Given the description of an element on the screen output the (x, y) to click on. 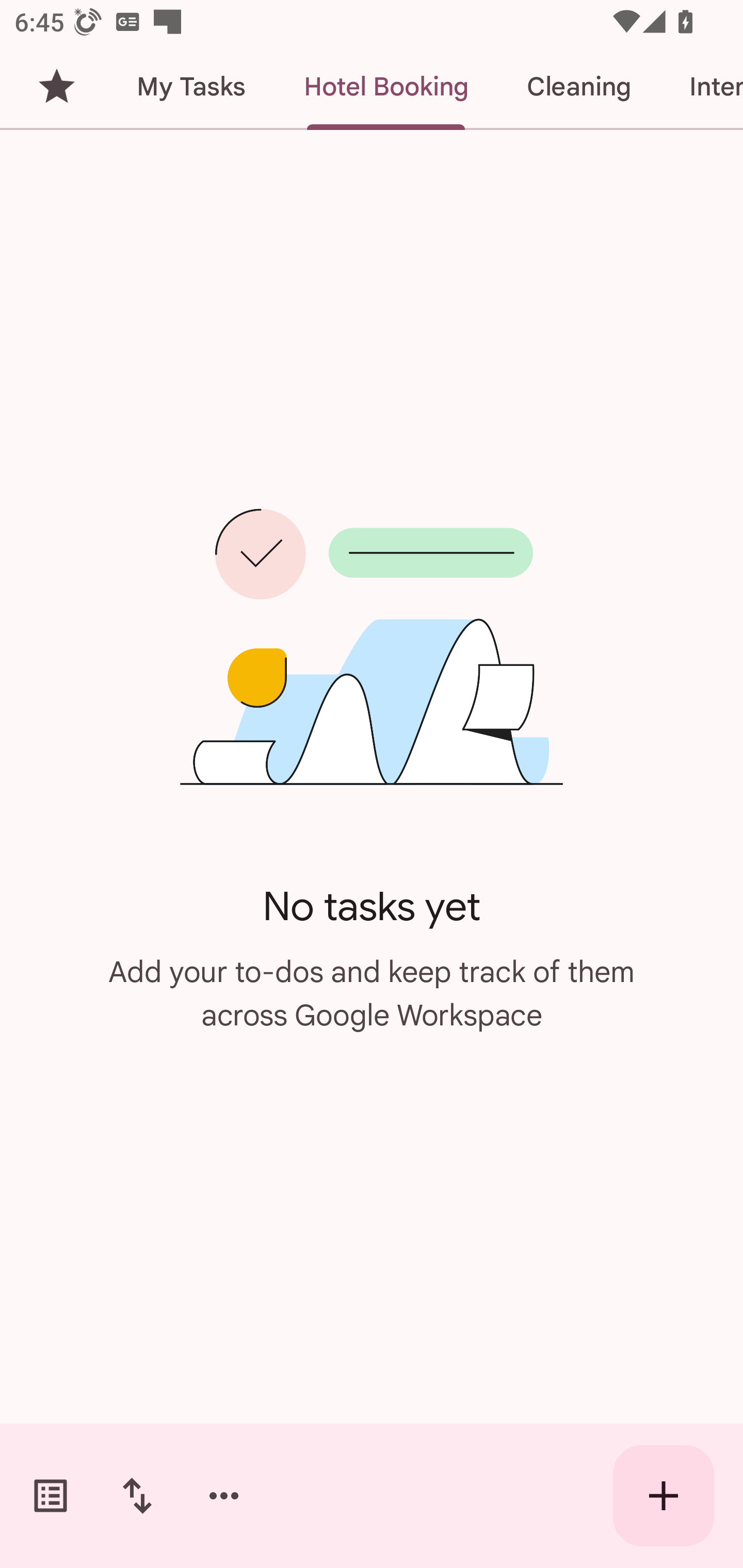
Starred (55, 86)
My Tasks (190, 86)
Cleaning (578, 86)
Interview (701, 86)
Switch task lists (50, 1495)
Create new task (663, 1495)
Change sort order (136, 1495)
More options (223, 1495)
